Given the description of an element on the screen output the (x, y) to click on. 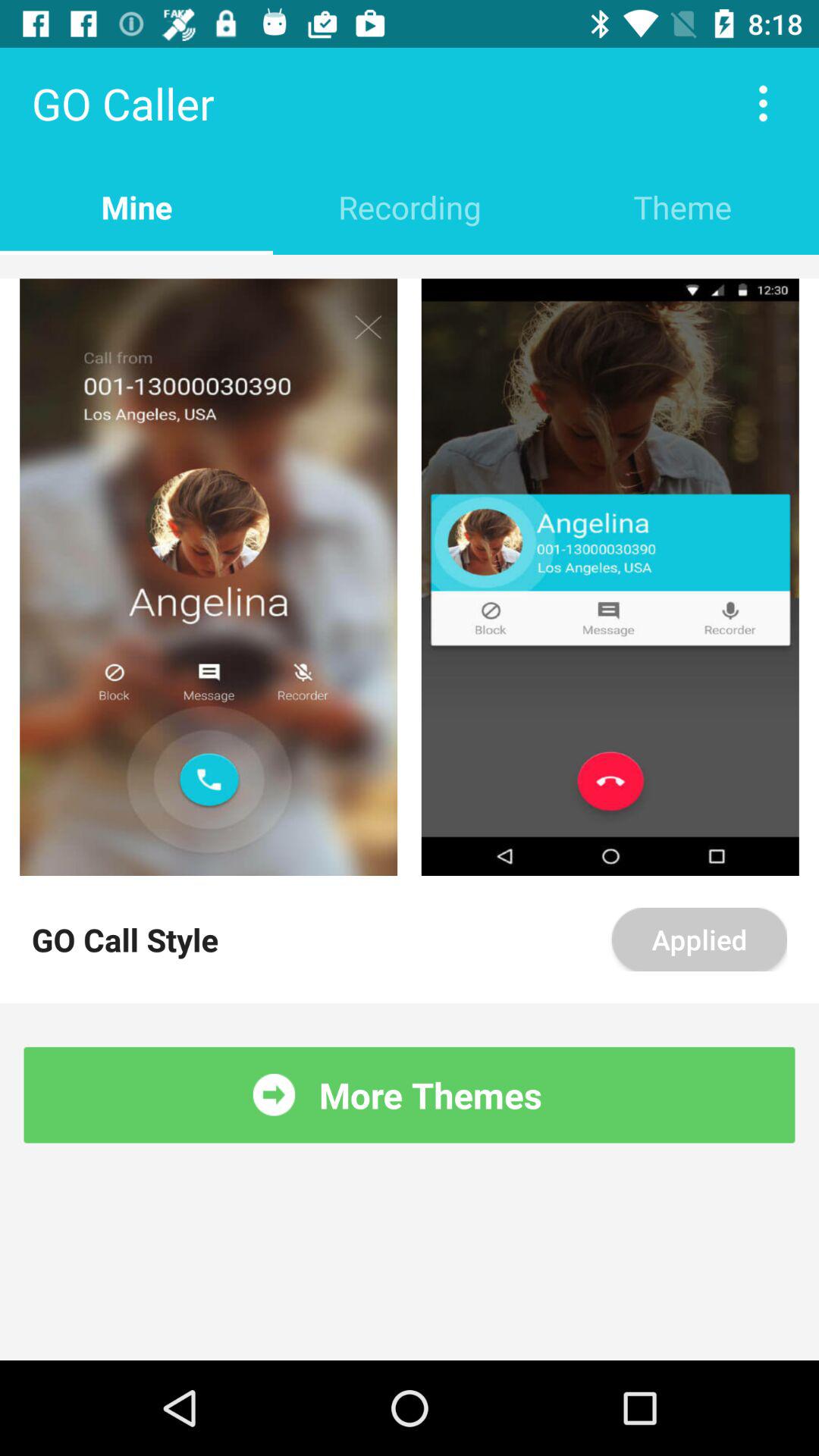
launch icon next to go call style (699, 939)
